Given the description of an element on the screen output the (x, y) to click on. 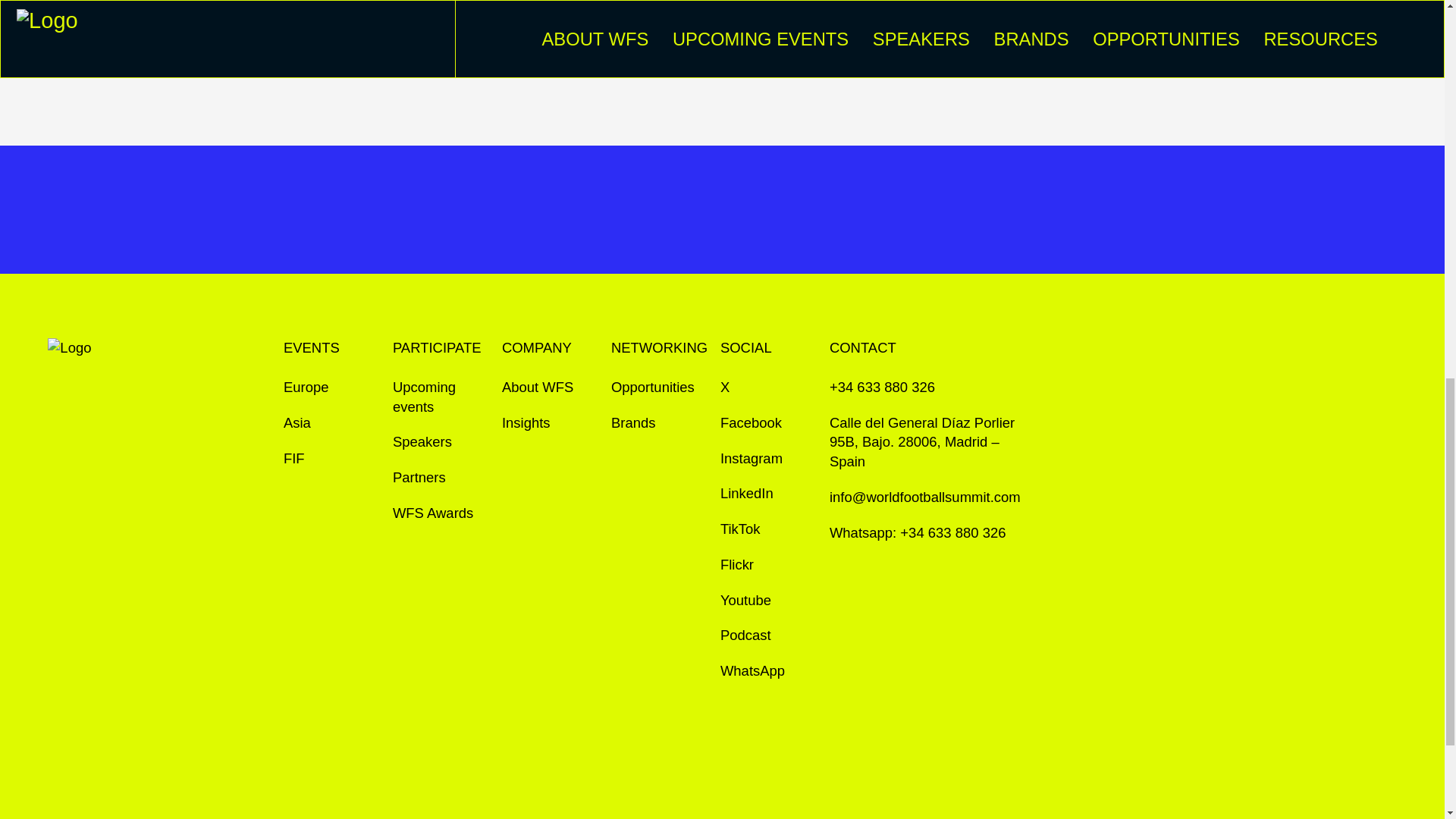
Europe (306, 387)
Insights (526, 423)
Brands (633, 423)
Flickr (737, 564)
Podcast (745, 635)
Speakers (422, 442)
About WFS (537, 387)
Facebook (750, 423)
WhatsApp (752, 670)
Upcoming events (441, 396)
Youtube (745, 600)
Opportunities (652, 387)
Asia (297, 423)
TikTok (740, 528)
Partners (419, 477)
